Given the description of an element on the screen output the (x, y) to click on. 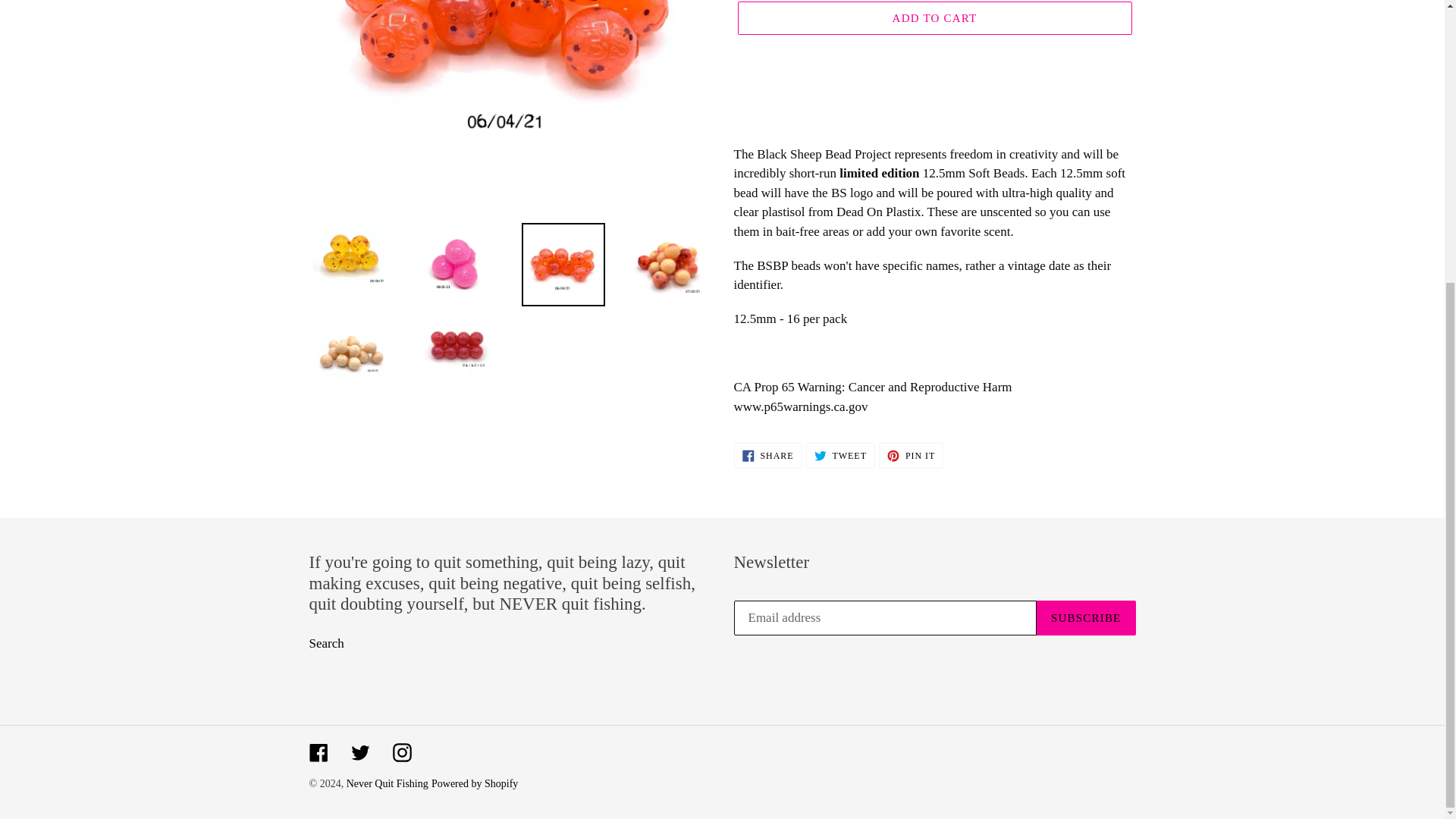
Facebook (318, 752)
SUBSCRIBE (1085, 617)
Instagram (911, 455)
Search (402, 752)
Never Quit Fishing (325, 643)
Powered by Shopify (840, 455)
Twitter (387, 783)
